Given the description of an element on the screen output the (x, y) to click on. 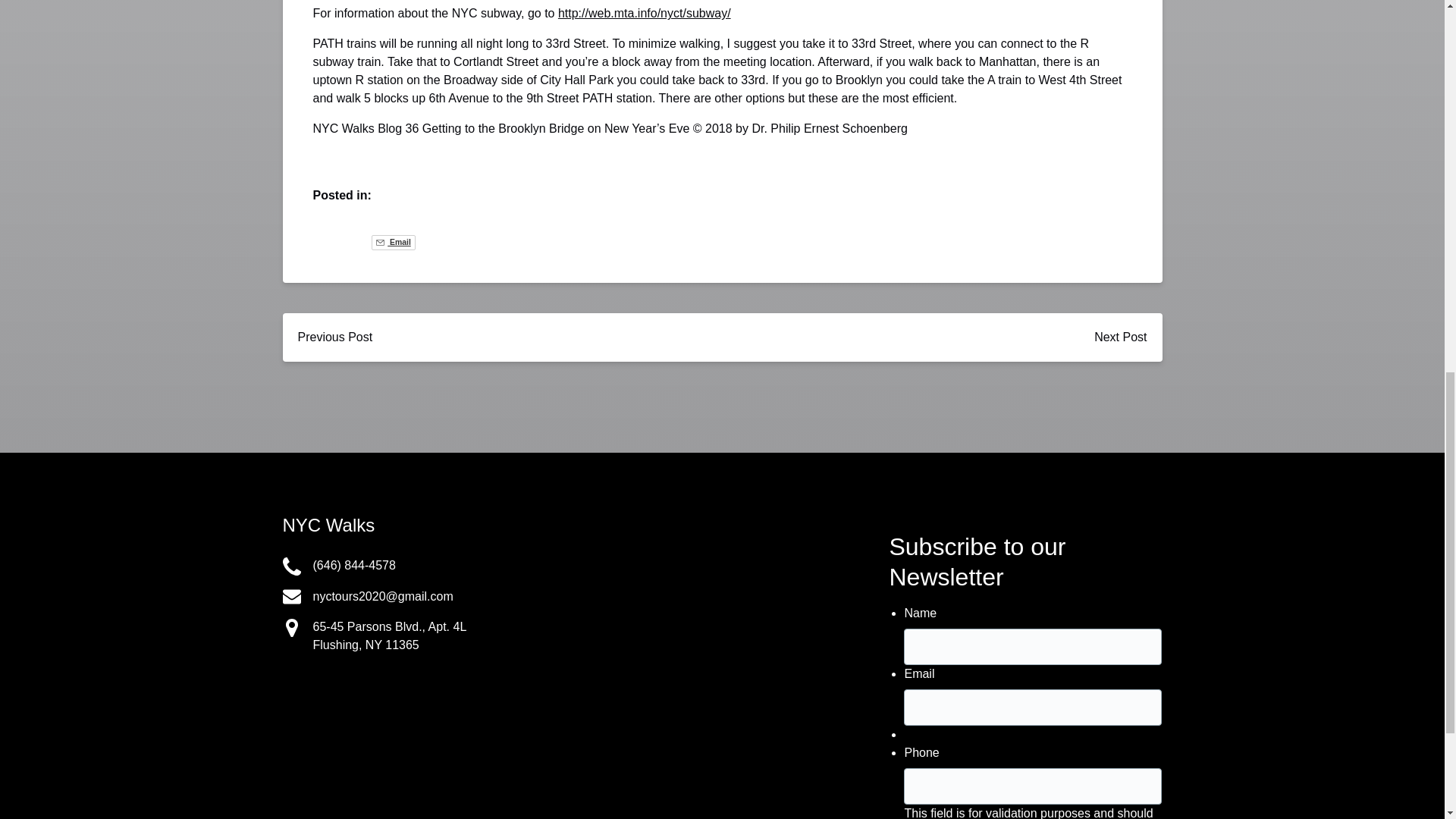
Email this page to a friend. (392, 242)
Previous Post (334, 336)
Click here to visit next post (1119, 336)
Next Post (1119, 336)
Phone (290, 566)
Map Marker (290, 628)
Envelope (290, 597)
Email (392, 242)
Click here to visit previous post (334, 336)
